Given the description of an element on the screen output the (x, y) to click on. 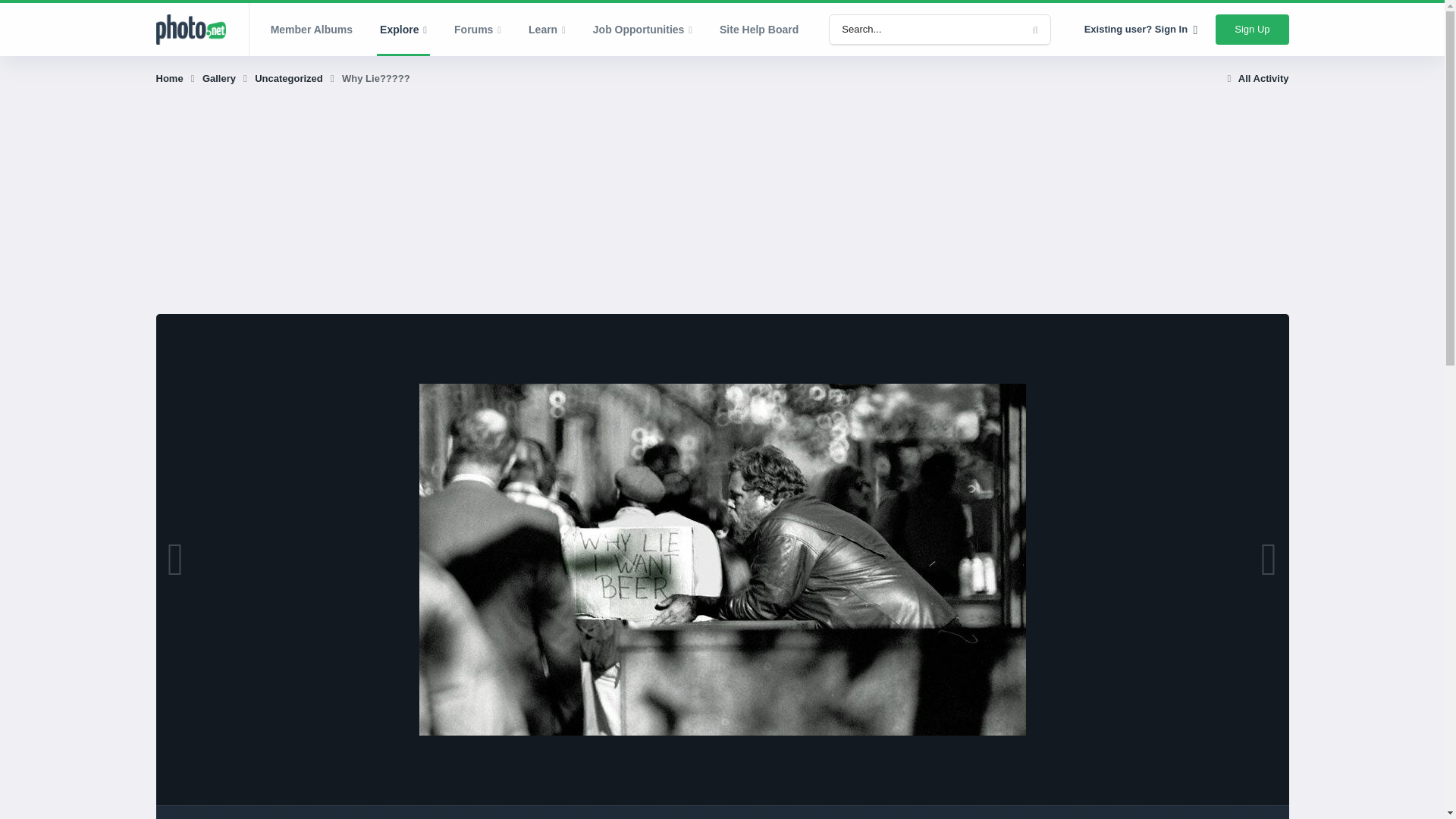
Sign Up (1251, 29)
Forums (478, 29)
Existing user? Sign In   (1140, 29)
Advertisement (431, 207)
Job Opportunities (642, 29)
Site Help Board (759, 29)
Learn (547, 29)
Home (177, 78)
Member Albums (311, 29)
